Given the description of an element on the screen output the (x, y) to click on. 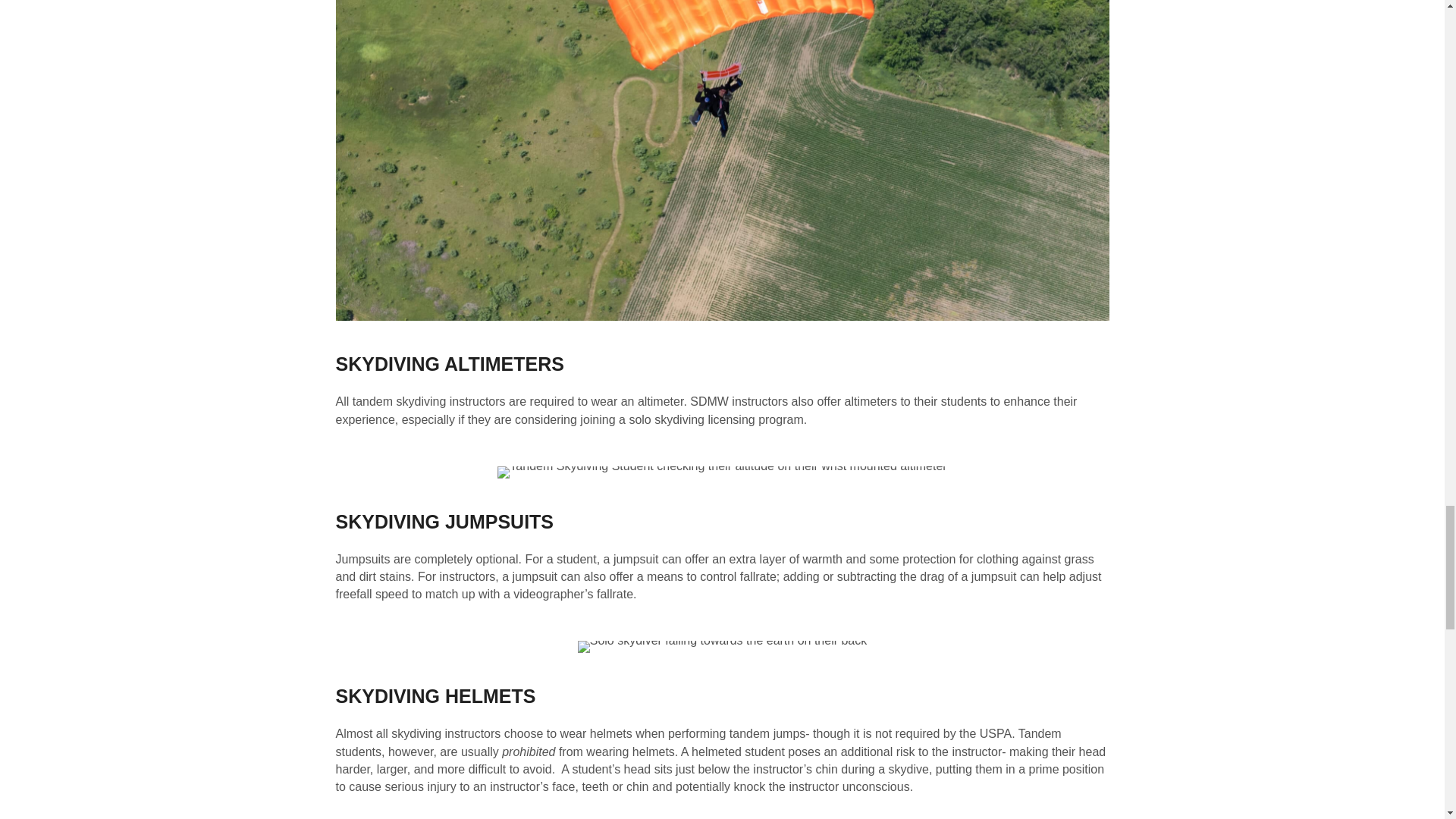
July23-00090 (721, 472)
May23-06262 (722, 646)
